Given the description of an element on the screen output the (x, y) to click on. 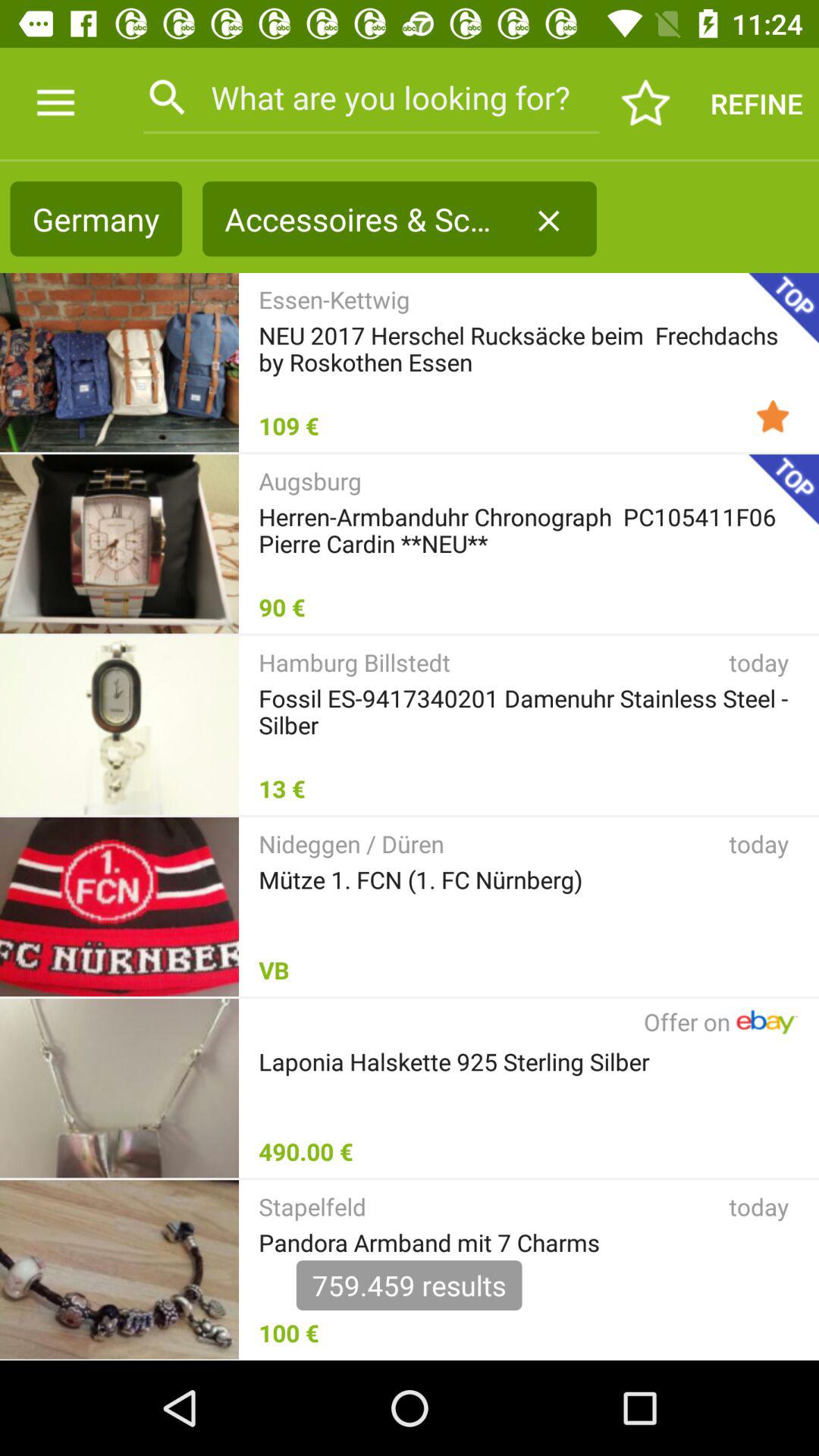
select the icon to the right of the accessoires & schmuck (548, 220)
